Given the description of an element on the screen output the (x, y) to click on. 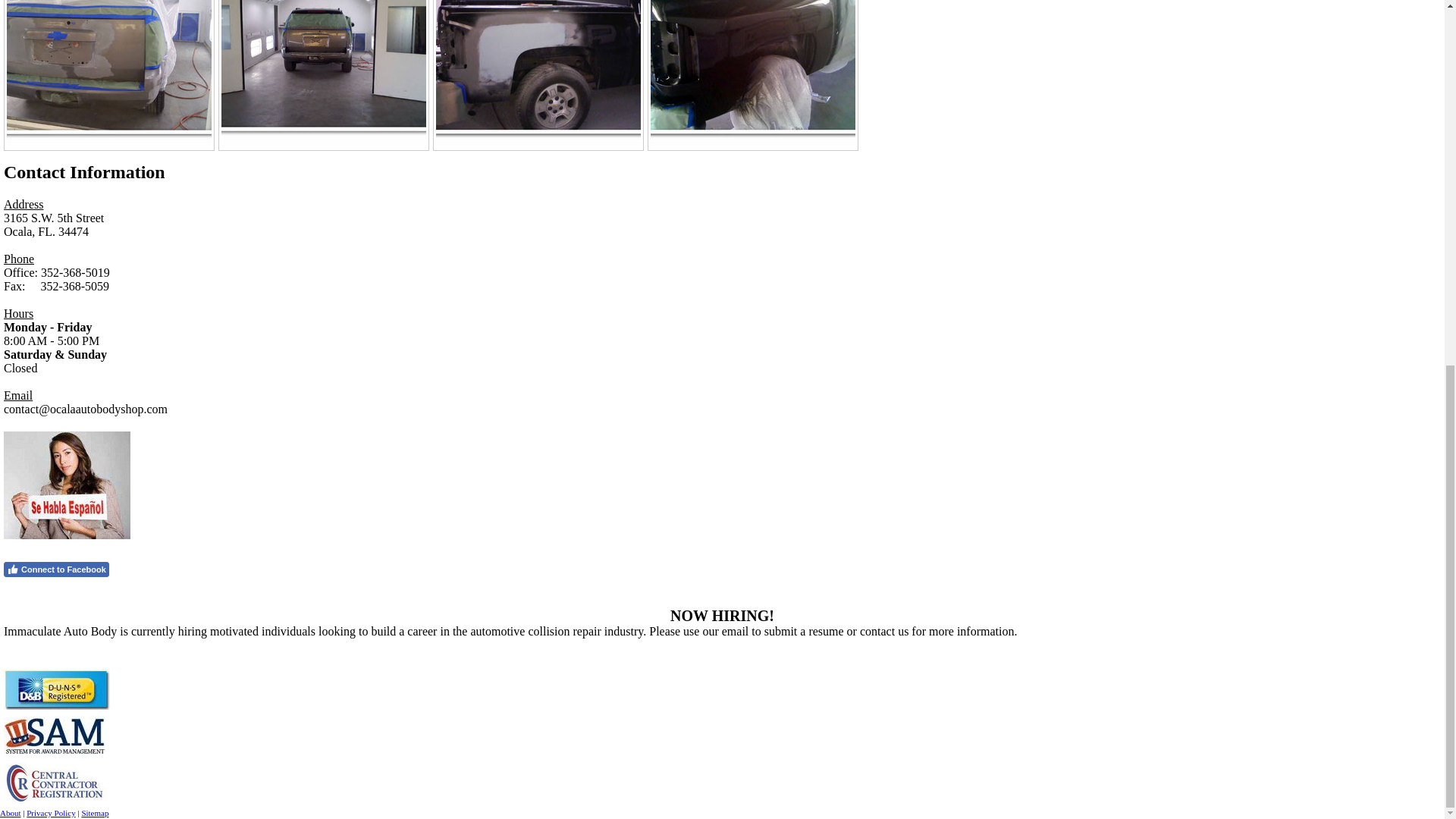
Connect to Facebook (56, 569)
Sitemap (94, 812)
Privacy Policy (50, 812)
About (10, 812)
